Given the description of an element on the screen output the (x, y) to click on. 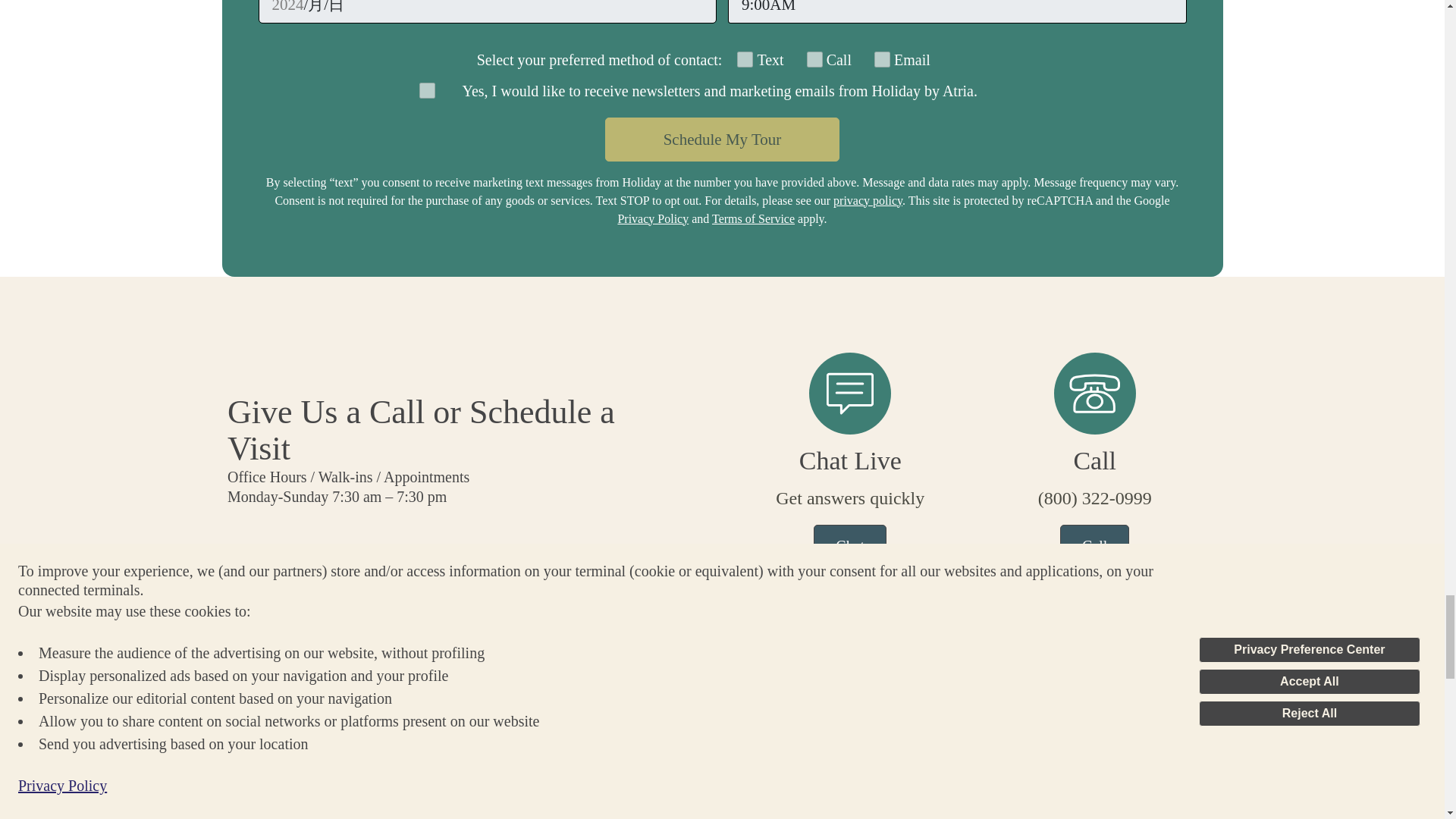
email (882, 59)
text (744, 59)
call (814, 59)
on (426, 90)
